Given the description of an element on the screen output the (x, y) to click on. 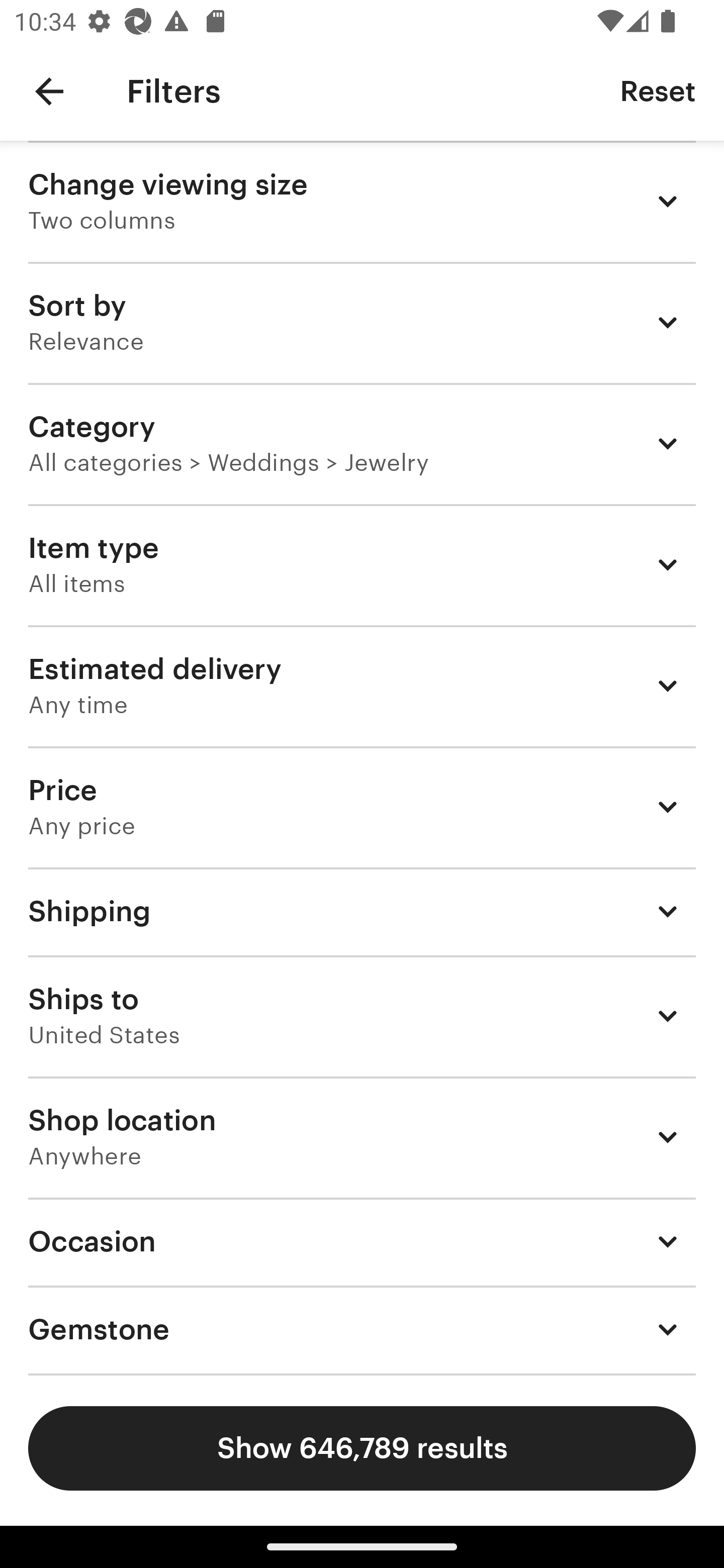
Navigate up (49, 91)
Reset (657, 90)
Change viewing size Two columns (362, 201)
Sort by Relevance (362, 321)
Category All categories > Weddings > Jewelry (362, 442)
Item type All items (362, 564)
Estimated delivery Any time (362, 685)
Price Any price (362, 806)
Shipping (362, 910)
Ships to United States (362, 1015)
Shop location Anywhere (362, 1137)
Occasion (362, 1241)
Gemstone (362, 1329)
Show 646,789 results Show results (361, 1448)
